Given the description of an element on the screen output the (x, y) to click on. 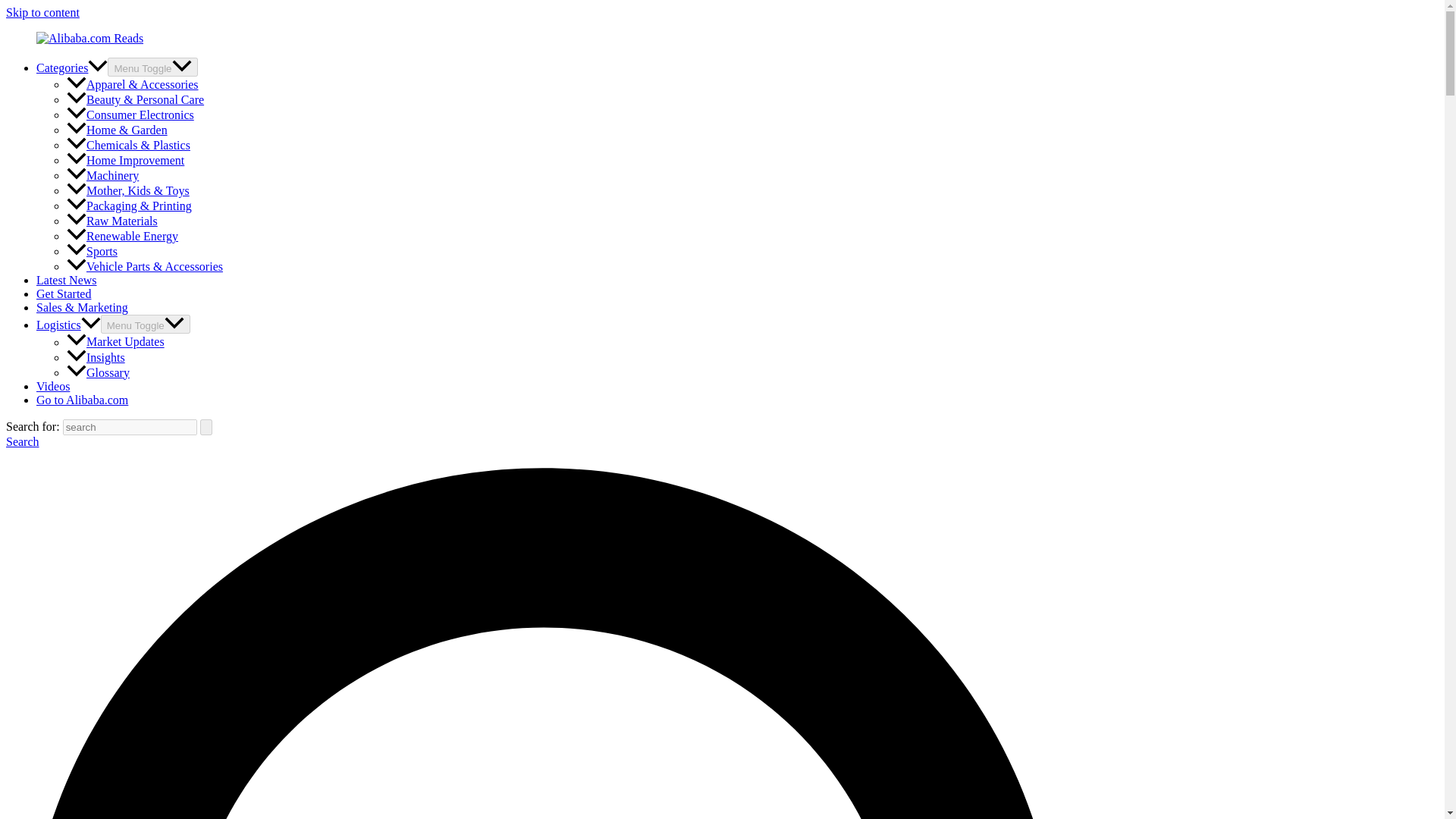
Get Started (63, 293)
Sports (91, 250)
Home Improvement (125, 160)
Market Updates (115, 341)
Skip to content (42, 11)
Raw Materials (111, 220)
Insights (95, 357)
Consumer Electronics (129, 114)
Go to Alibaba.com (82, 399)
Logistics (68, 324)
Videos (52, 386)
Latest News (66, 279)
Categories (71, 67)
Menu Toggle (151, 66)
Glossary (97, 372)
